Given the description of an element on the screen output the (x, y) to click on. 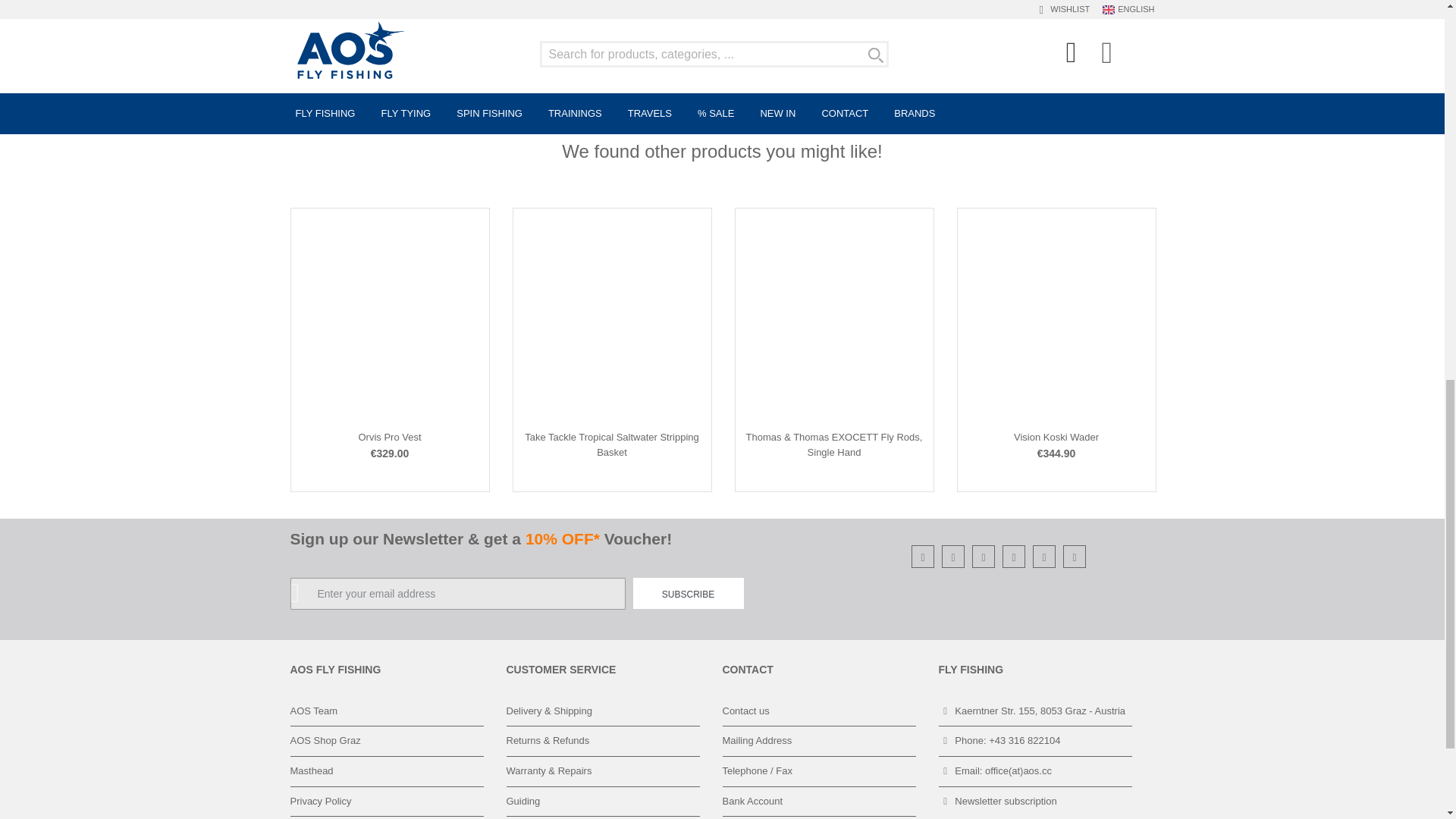
Take Tackle Tropical Saltwater Stripping Basket (611, 444)
Vision Koski Wader (1056, 437)
Orvis Pro Vest (389, 437)
